Given the description of an element on the screen output the (x, y) to click on. 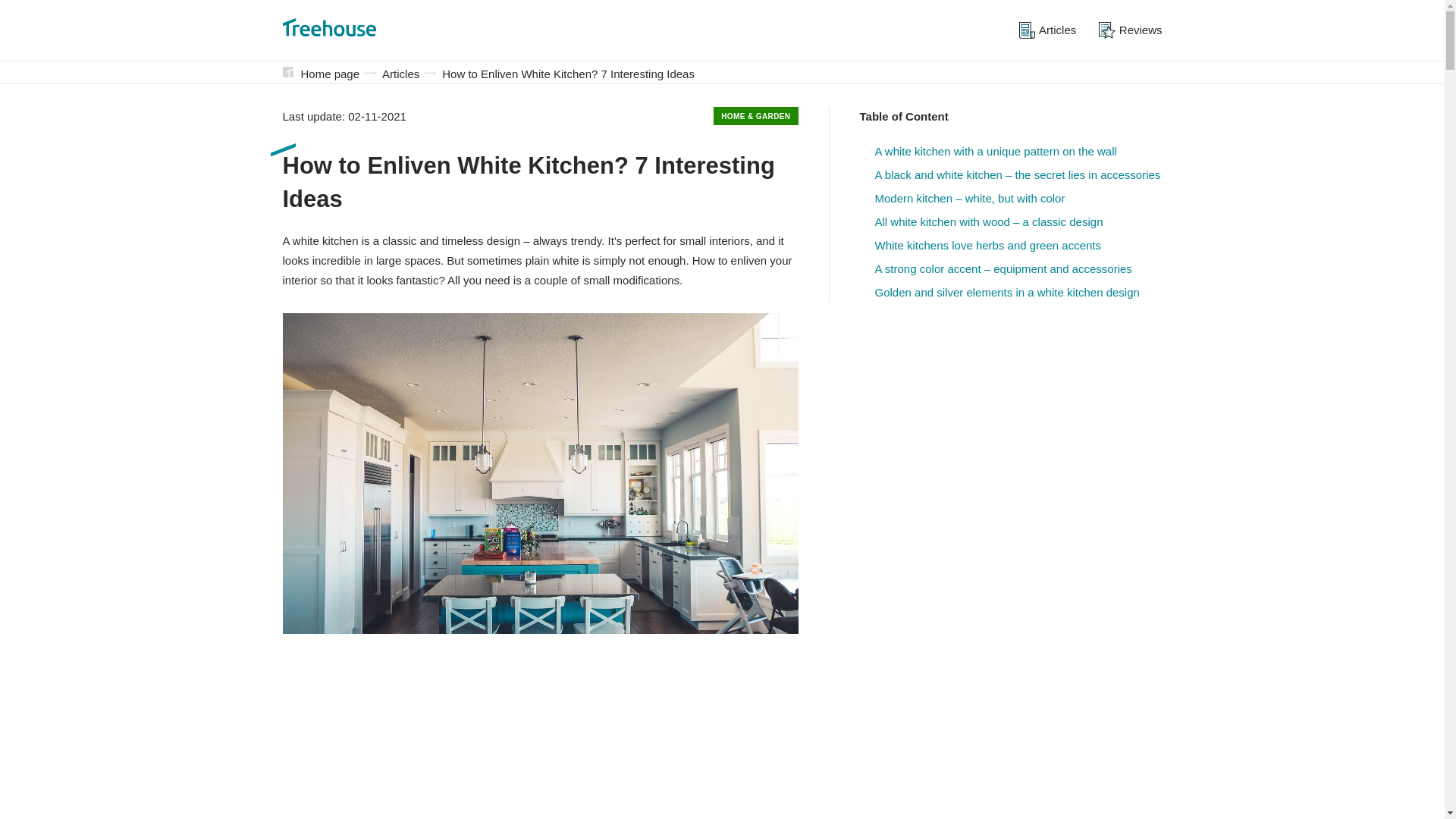
Reviews (1130, 29)
Golden and silver elements in a white kitchen design (1007, 292)
Articles (1047, 29)
Articles (400, 73)
A white kitchen with a unique pattern on the wall (995, 151)
How to Enliven White Kitchen? 7 Interesting Ideas (568, 73)
Home page (329, 73)
White kitchens love herbs and green accents (988, 245)
